Given the description of an element on the screen output the (x, y) to click on. 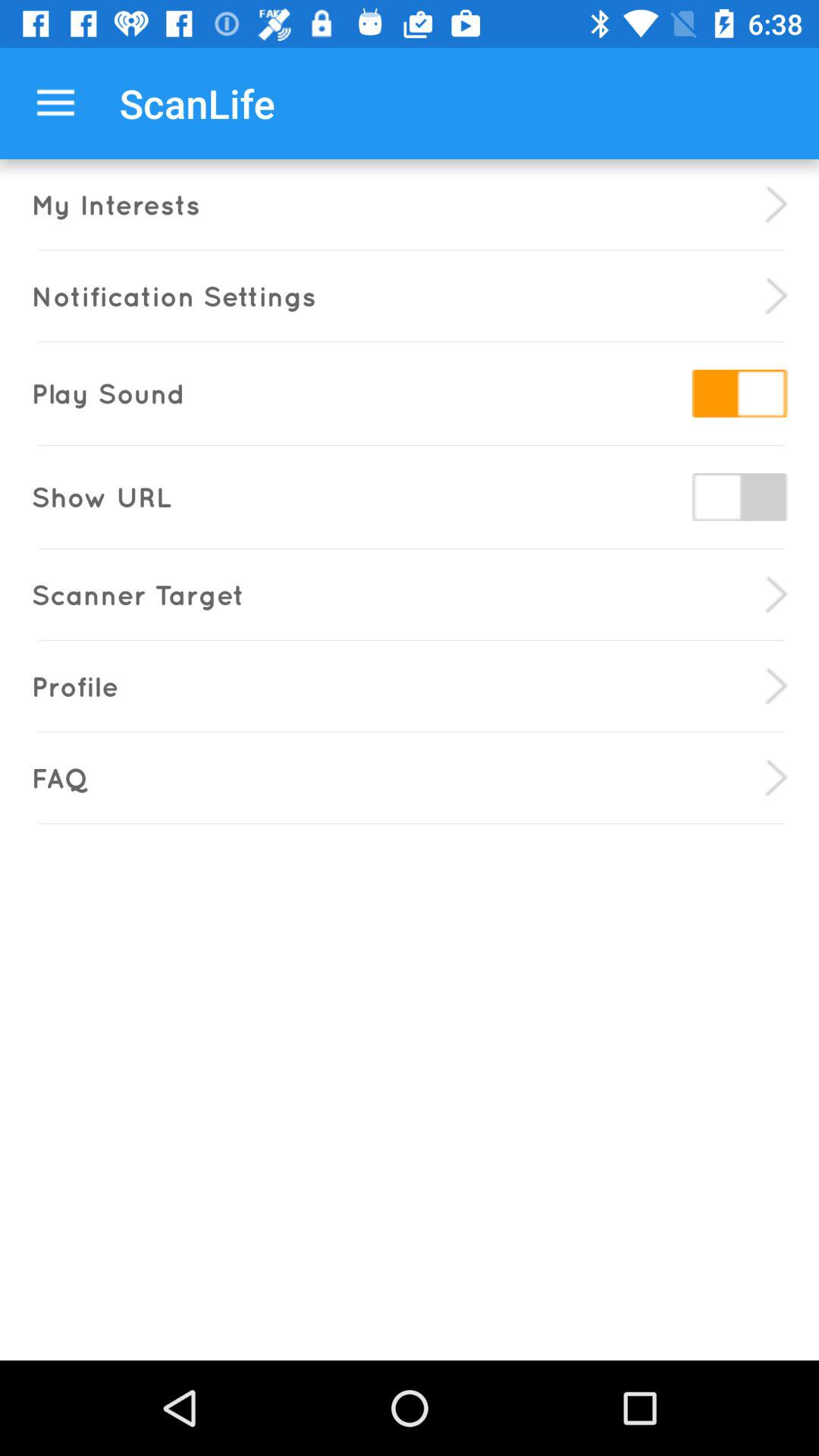
launch the icon above my interests icon (55, 103)
